Given the description of an element on the screen output the (x, y) to click on. 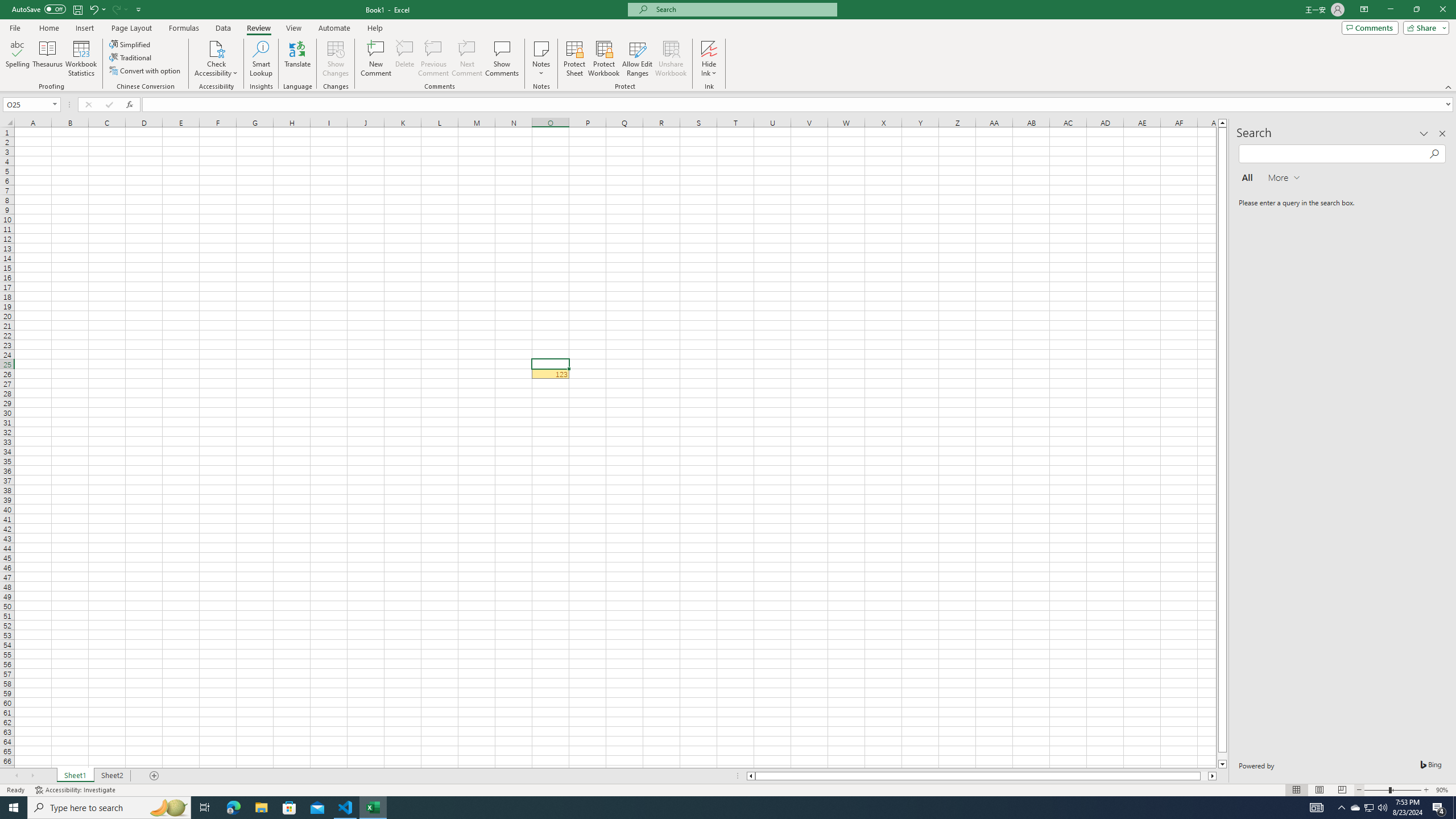
Translate (297, 58)
Convert with option (145, 69)
Spelling... (17, 58)
Show Comments (501, 58)
Simplified (130, 44)
